Given the description of an element on the screen output the (x, y) to click on. 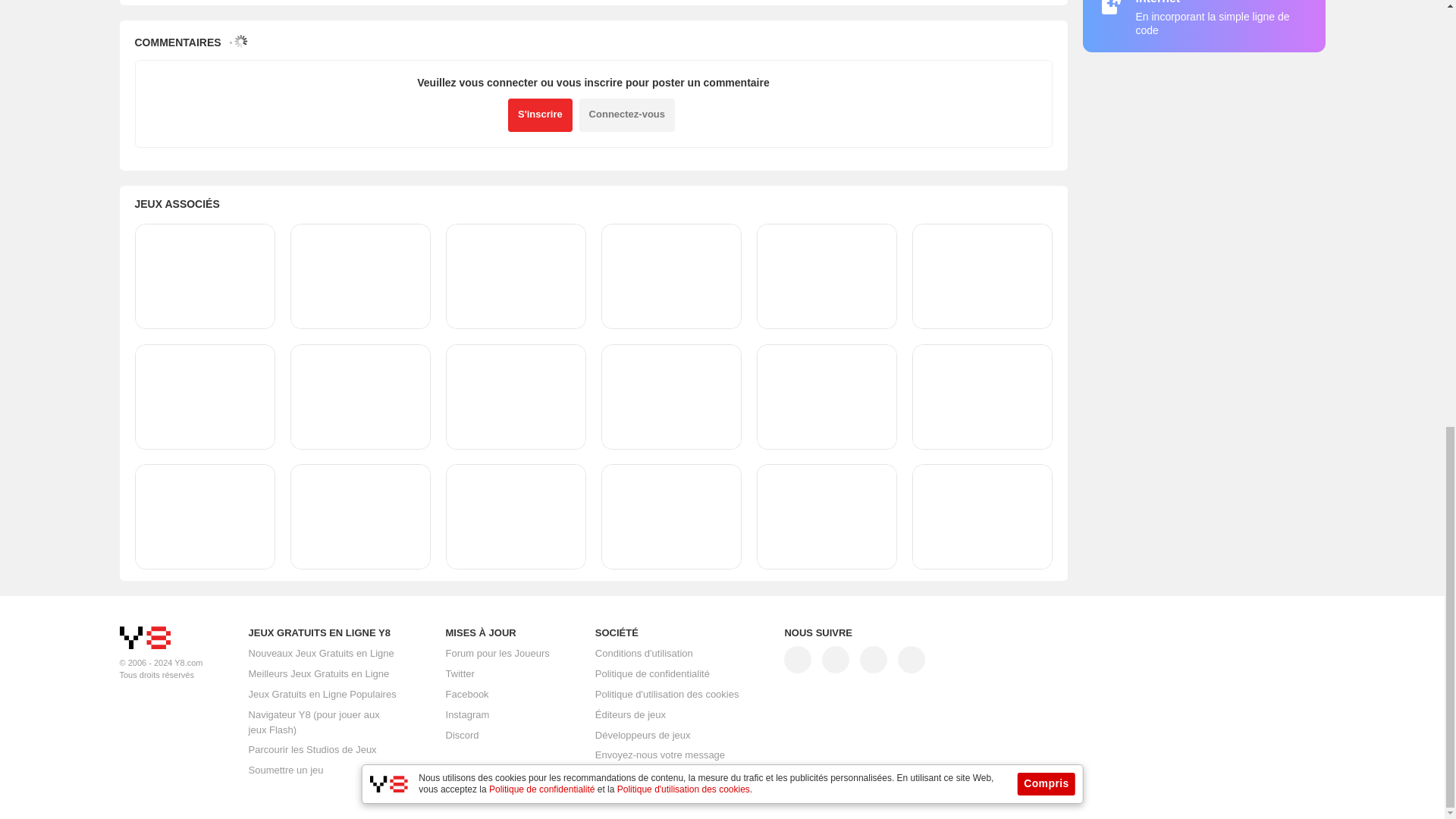
Politique d'utilisation des cookies (667, 694)
Conditions d'utilisation (644, 653)
